Given the description of an element on the screen output the (x, y) to click on. 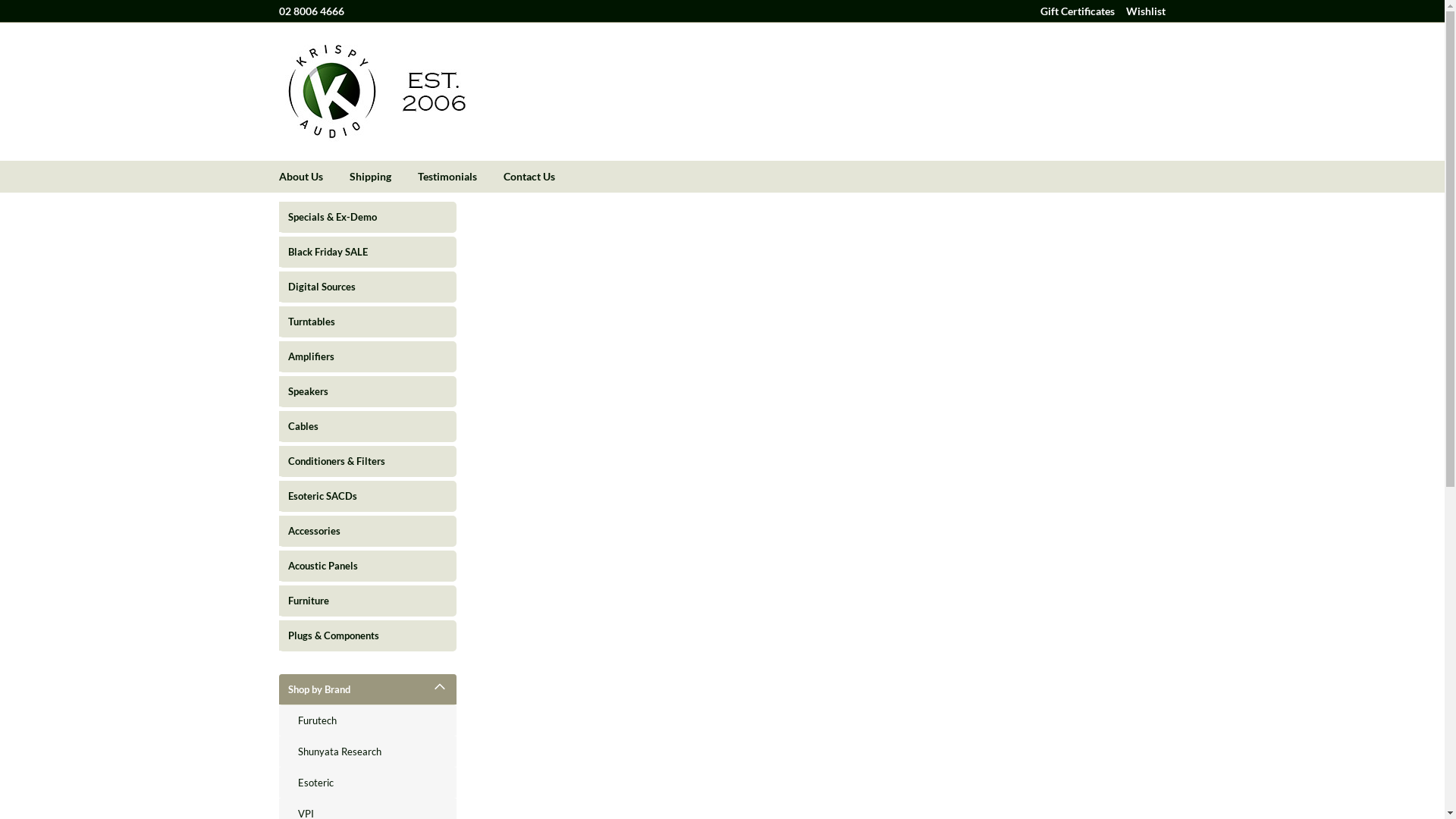
Black Friday SALE Element type: text (354, 251)
Specials & Ex-Demo Element type: text (354, 216)
Shunyata Research Element type: text (367, 751)
Gift Certificates Element type: text (1077, 10)
Shop by Brand Element type: text (367, 689)
Esoteric SACDs Element type: text (354, 495)
About Us Element type: text (314, 176)
Shipping Element type: text (382, 176)
Furniture Element type: text (354, 600)
Plugs & Components Element type: text (354, 635)
Wishlist Element type: text (1144, 10)
Krispy Audio Element type: hover (373, 91)
Turntables Element type: text (354, 321)
Cables Element type: text (354, 426)
Contact Us Element type: text (542, 176)
02 8006 4666 Element type: text (311, 10)
Conditioners & Filters Element type: text (354, 460)
Furutech Element type: text (367, 720)
Speakers Element type: text (354, 391)
Esoteric Element type: text (367, 782)
Testimonials Element type: text (459, 176)
Amplifiers Element type: text (354, 356)
Acoustic Panels Element type: text (354, 565)
Digital Sources Element type: text (354, 286)
Accessories Element type: text (354, 530)
